Given the description of an element on the screen output the (x, y) to click on. 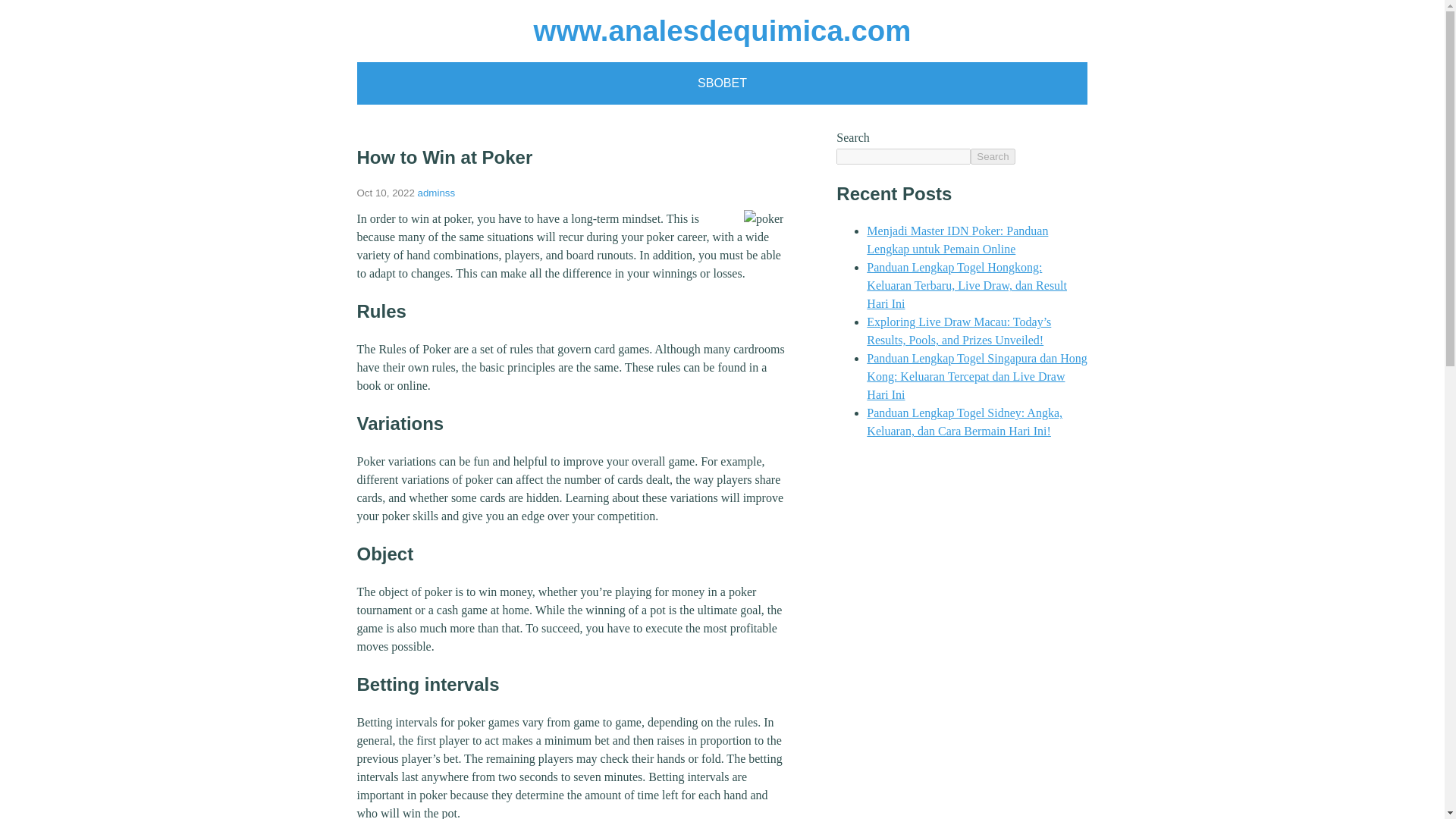
www.analesdequimica.com (722, 30)
SBOBET (721, 82)
adminss (436, 193)
Search (992, 156)
